Given the description of an element on the screen output the (x, y) to click on. 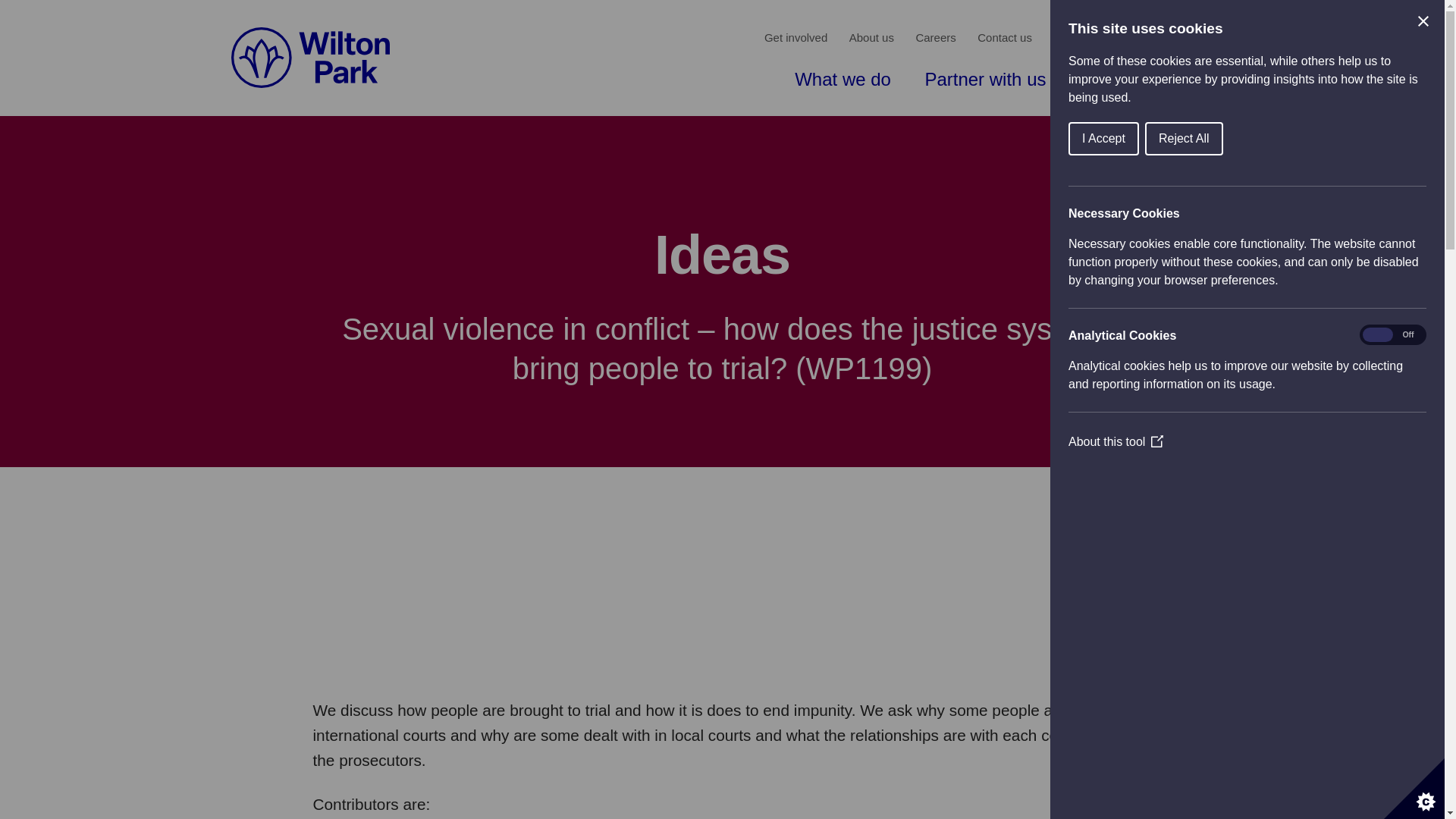
Contact us (1004, 38)
Events (1184, 80)
Careers (935, 38)
Search (1070, 38)
Translate (1130, 38)
I Accept (1166, 138)
What we do (842, 80)
Reject All (1233, 138)
About us (870, 38)
Get involved (795, 38)
Partner with us (984, 80)
Accessibility (1188, 38)
Ideas (1102, 80)
